Given the description of an element on the screen output the (x, y) to click on. 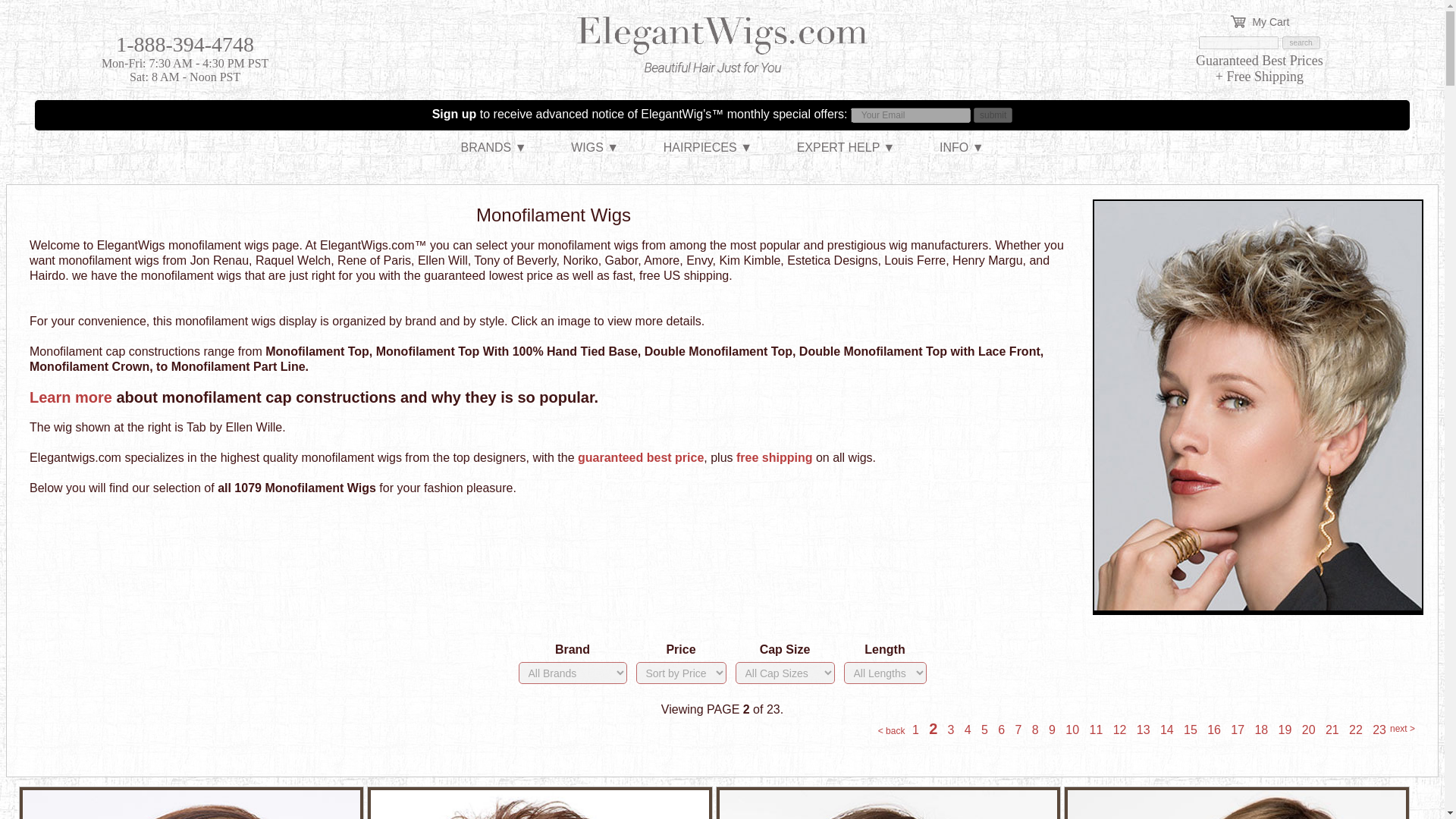
search (1301, 42)
ElegantWigs.com Home (721, 66)
submit (992, 114)
search (1301, 42)
Tab by Ellen Wille (1258, 605)
submit (992, 114)
My Cart (1258, 13)
My Cart (1258, 13)
